Given the description of an element on the screen output the (x, y) to click on. 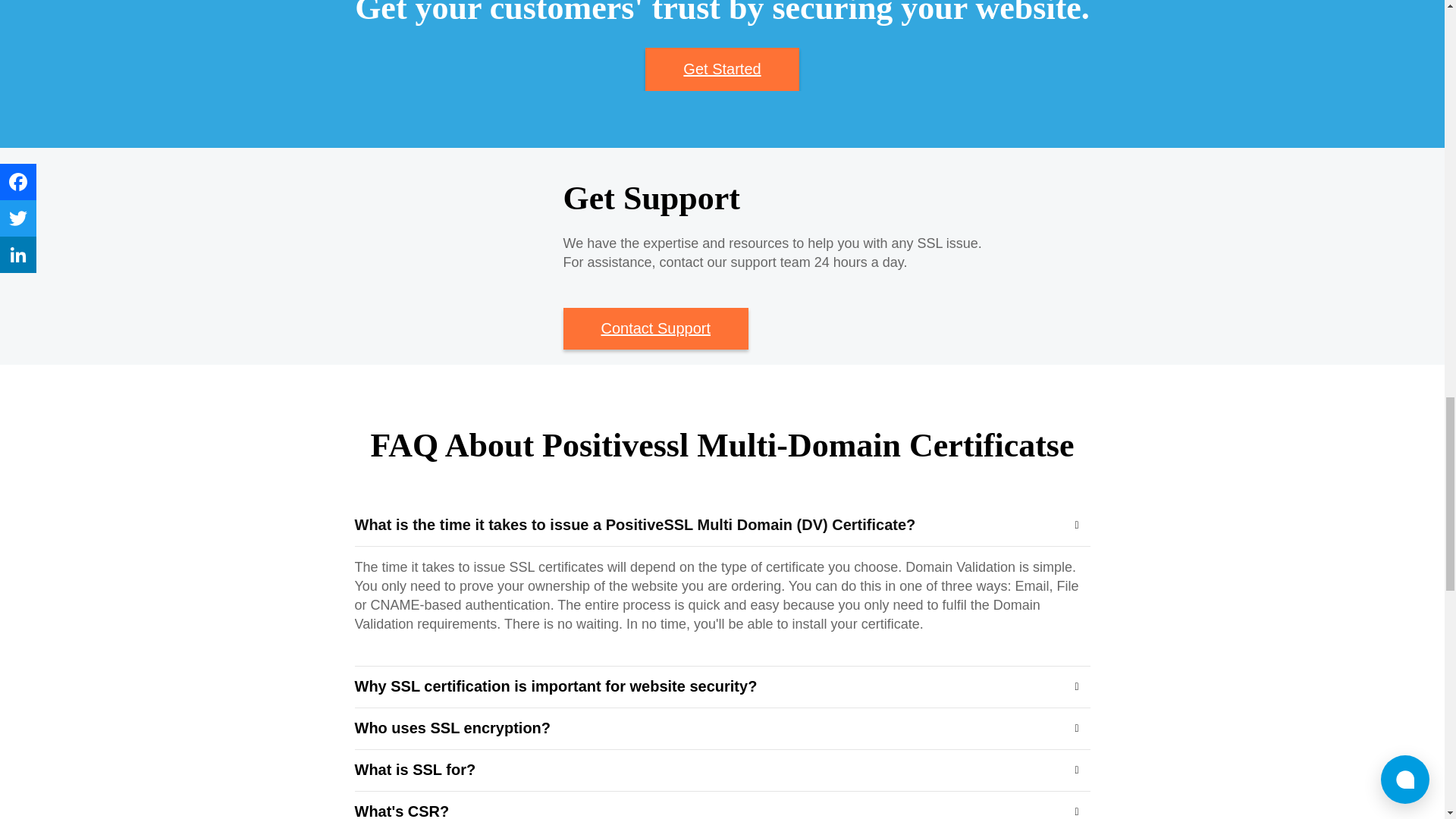
Get Started (721, 68)
Contact Support (655, 328)
